Given the description of an element on the screen output the (x, y) to click on. 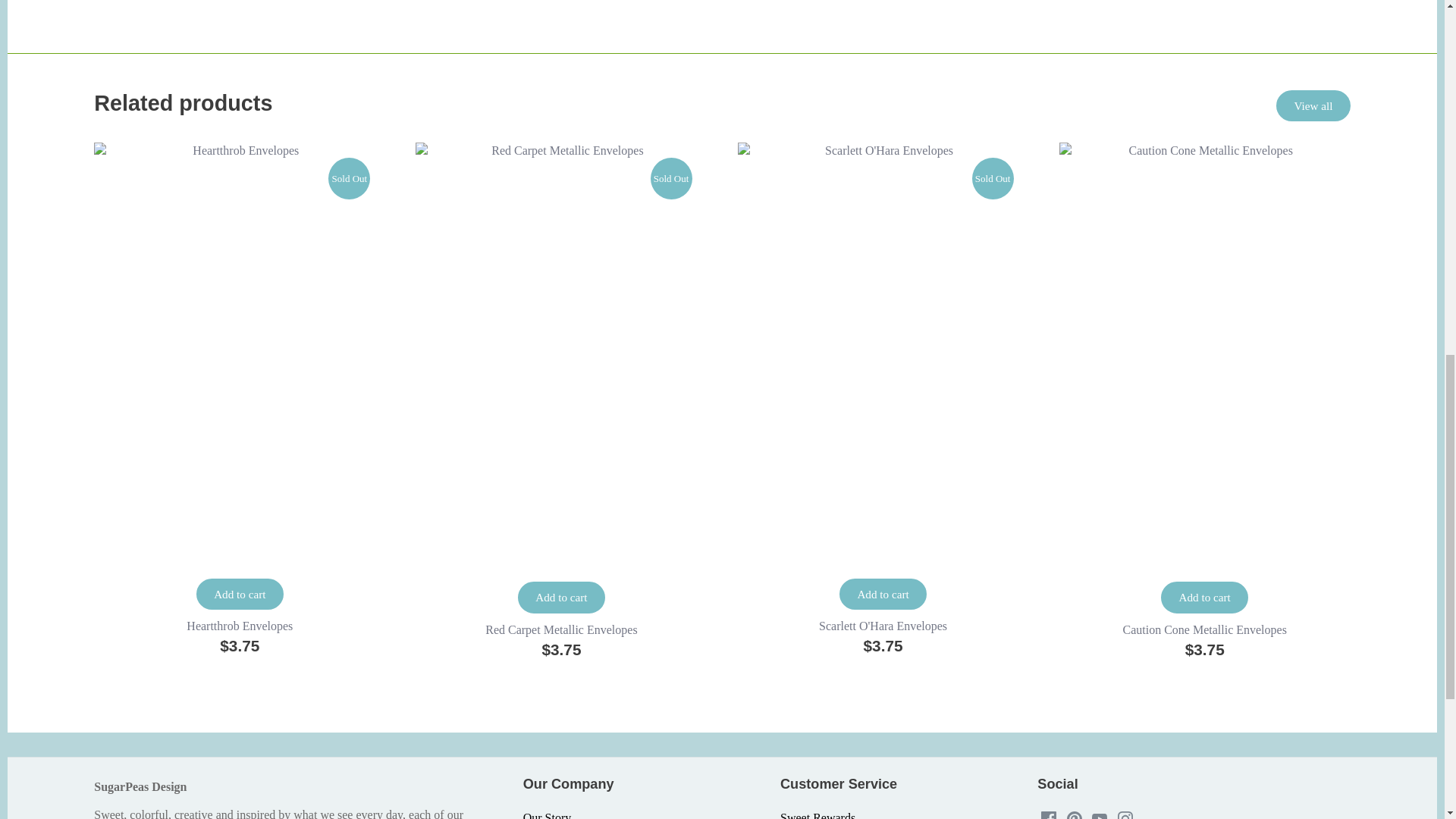
Youtube (1099, 812)
Youtube (1099, 815)
Pinterest (1074, 812)
Instagram (1125, 815)
Instagram (1125, 812)
Facebook (1049, 812)
Facebook (1049, 815)
Pinterest (1074, 815)
